Given the description of an element on the screen output the (x, y) to click on. 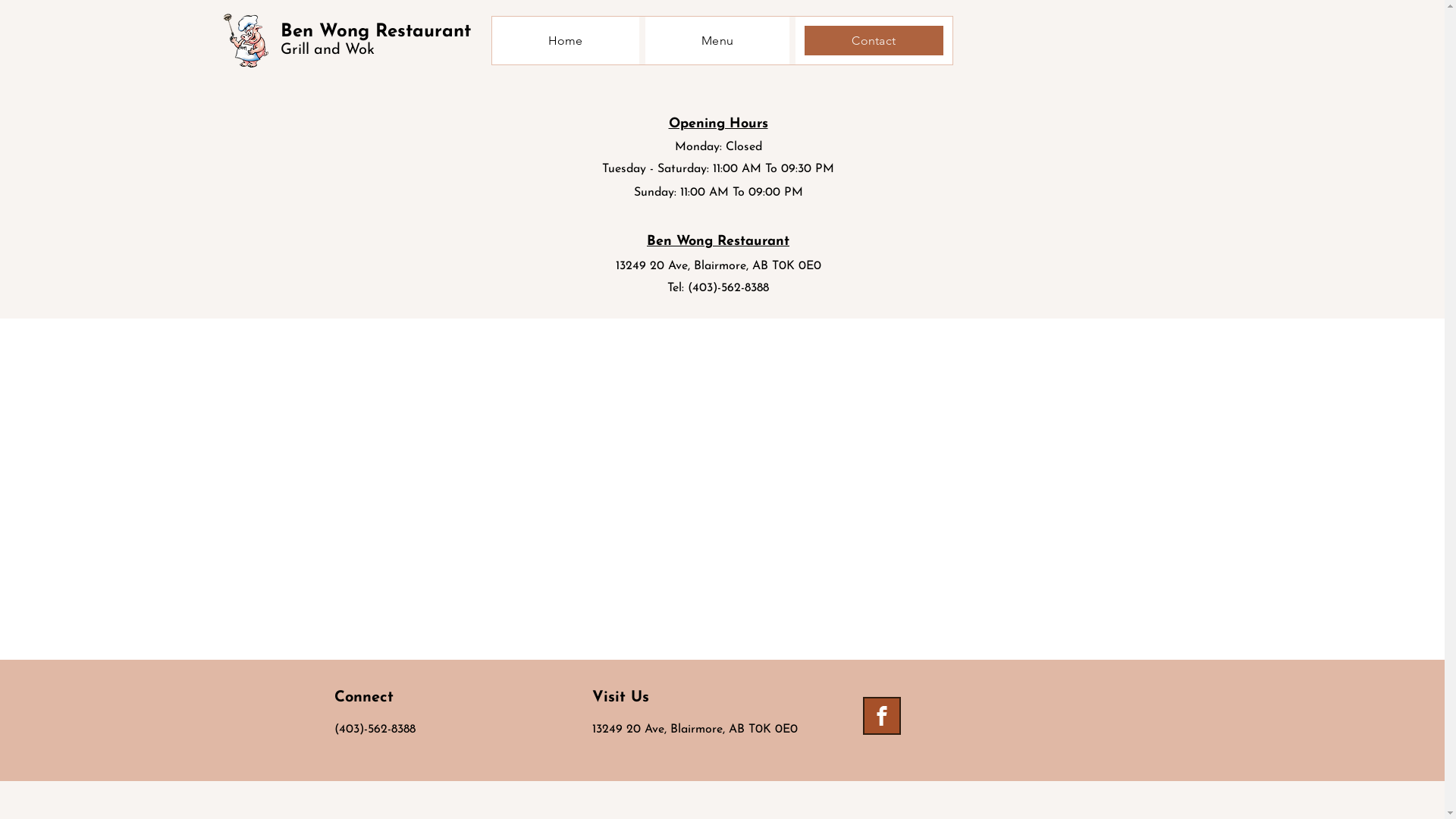
Contact Element type: text (873, 40)
Google Maps Element type: hover (722, 488)
Home Element type: text (564, 40)
Menu Element type: text (717, 40)
